Given the description of an element on the screen output the (x, y) to click on. 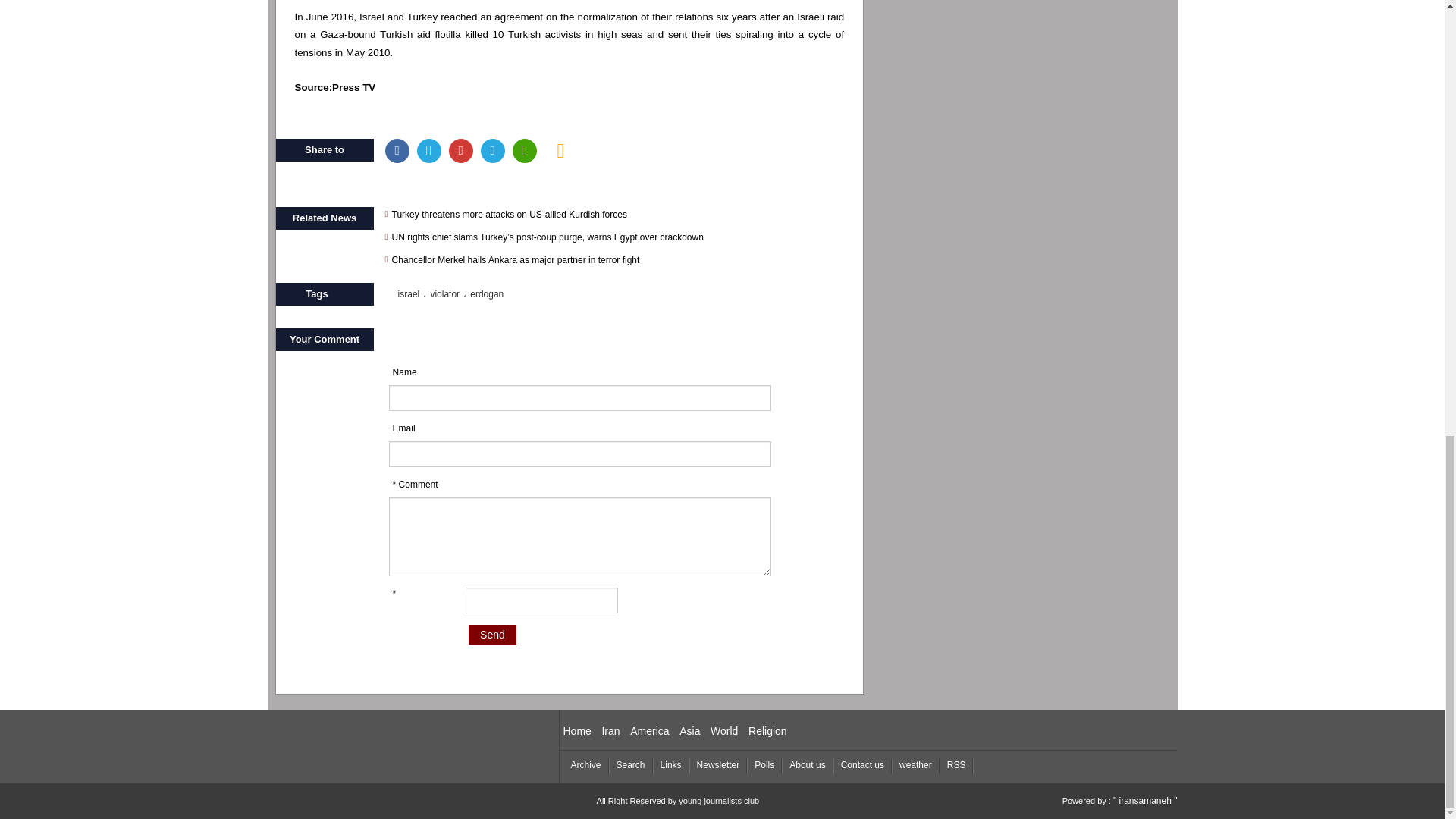
Send (492, 634)
Turkey threatens more attacks on US-allied Kurdish forces (618, 214)
news error report (560, 150)
